Given the description of an element on the screen output the (x, y) to click on. 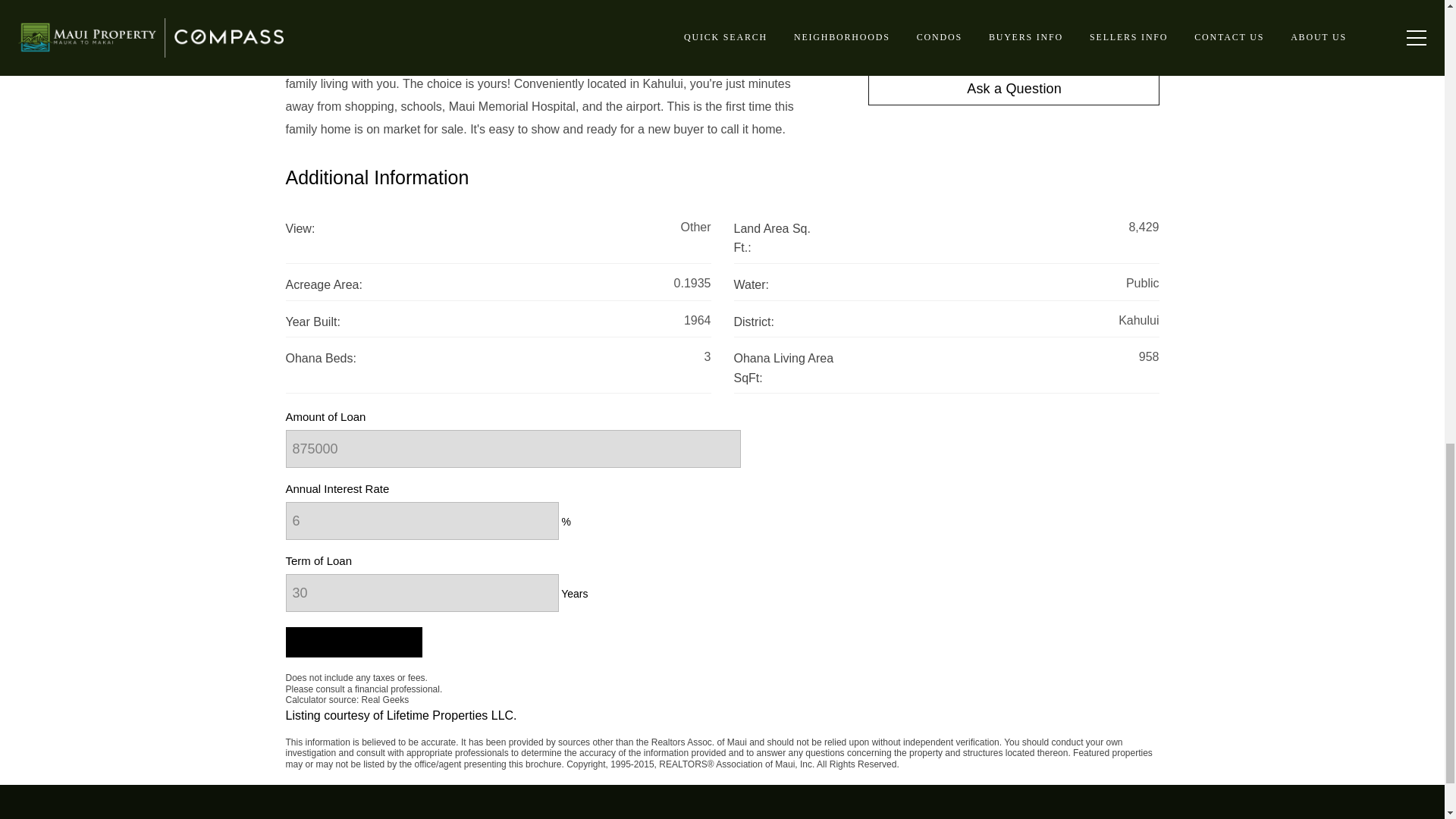
30 (421, 592)
875000 (512, 448)
6 (421, 520)
